Given the description of an element on the screen output the (x, y) to click on. 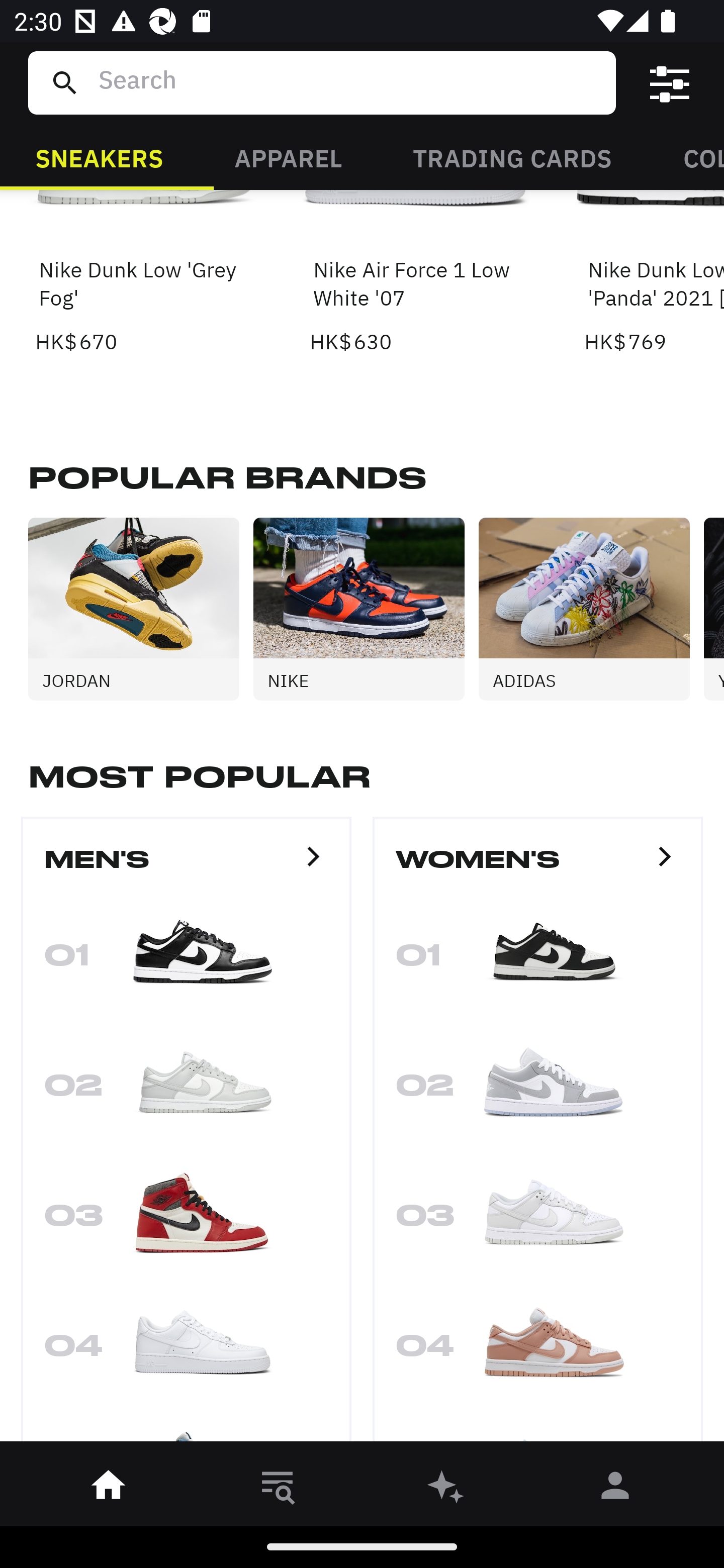
Search (349, 82)
 (669, 82)
SNEAKERS (99, 156)
APPAREL (287, 156)
TRADING CARDS (512, 156)
Nike Dunk Low 'Grey Fog' HK$ 670 (140, 274)
Nike Air Force 1 Low White '07 HK$ 630 (414, 274)
JORDAN (140, 608)
NIKE (365, 608)
ADIDAS (590, 608)
MEN'S  (186, 867)
WOMEN'S  (538, 867)
01 (186, 960)
01 (538, 960)
02 (186, 1091)
02 (538, 1091)
03 (186, 1222)
03 (538, 1222)
04 (186, 1352)
04 (538, 1352)
󰋜 (108, 1488)
󱎸 (277, 1488)
󰫢 (446, 1488)
󰀄 (615, 1488)
